Given the description of an element on the screen output the (x, y) to click on. 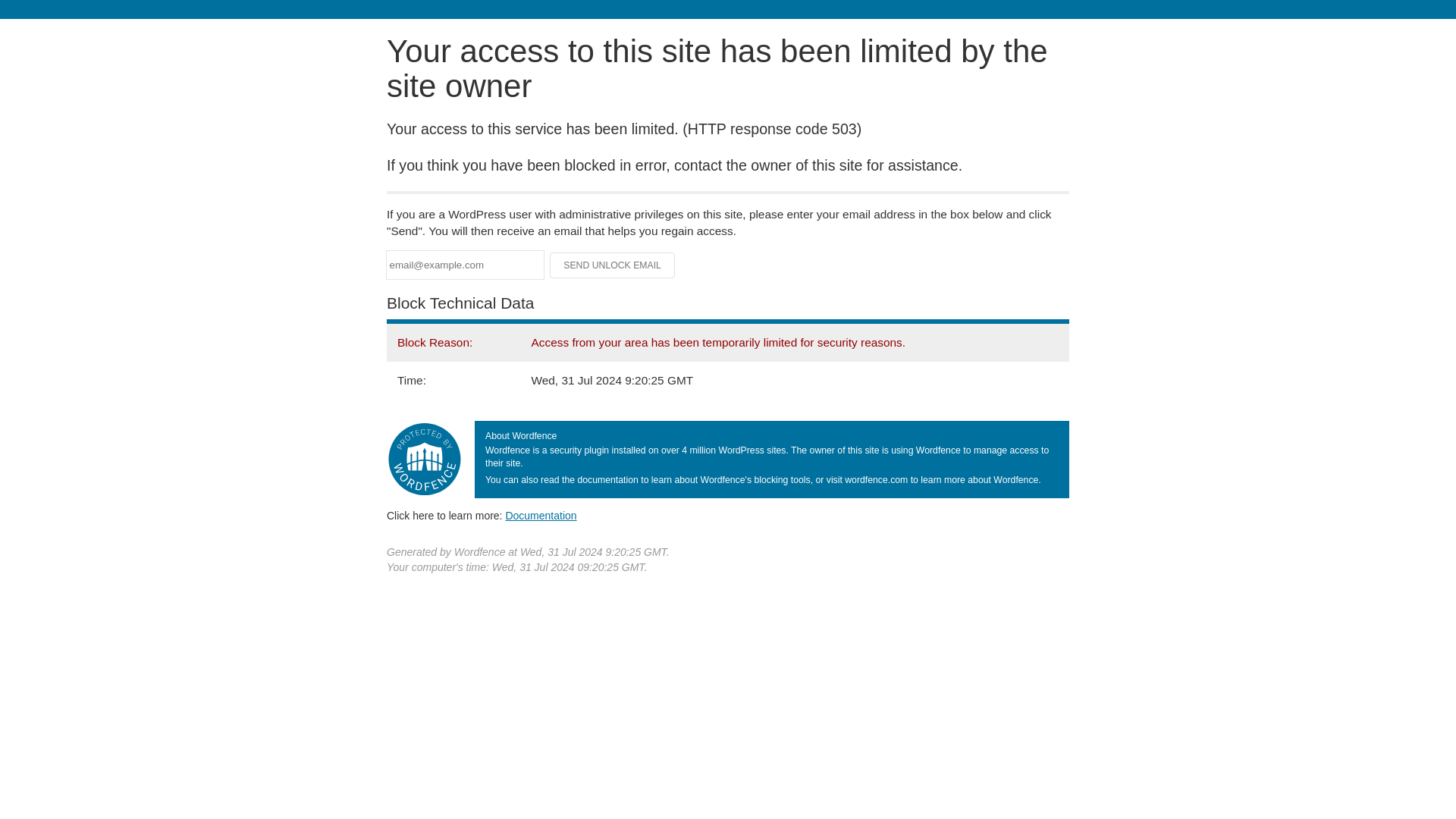
Documentation (540, 515)
Send Unlock Email (612, 265)
Send Unlock Email (612, 265)
